Given the description of an element on the screen output the (x, y) to click on. 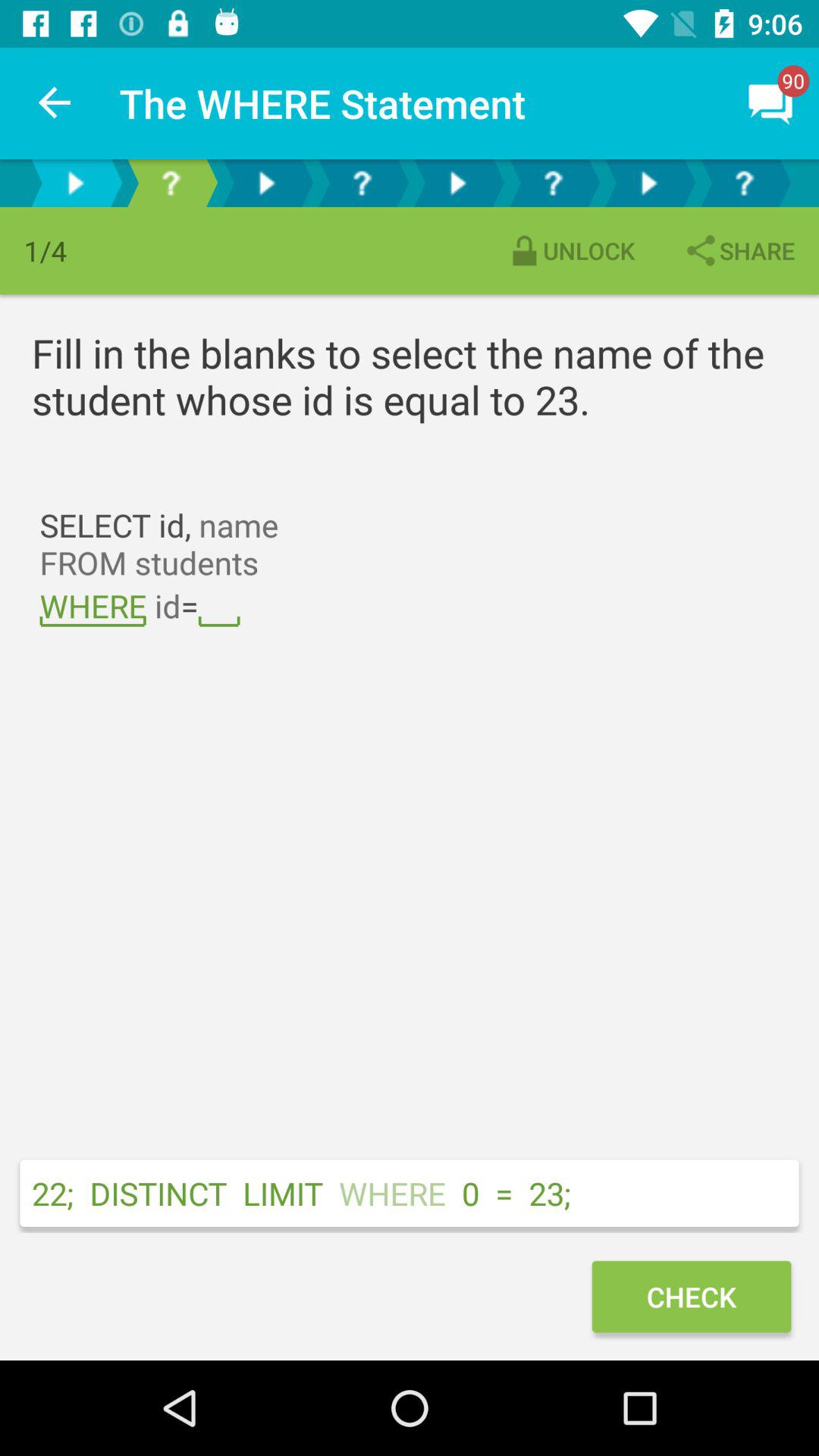
help button (743, 183)
